Given the description of an element on the screen output the (x, y) to click on. 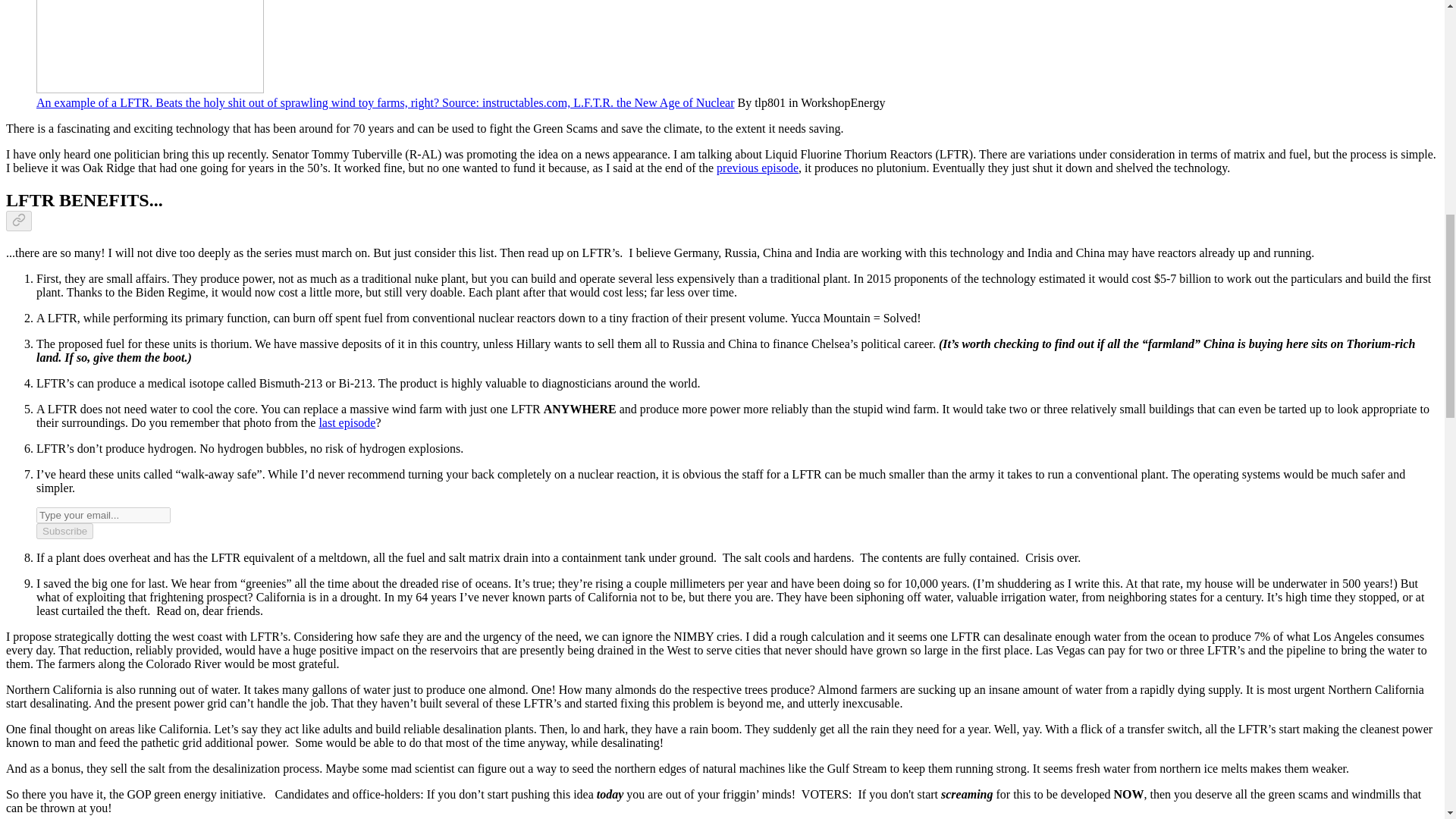
Subscribe (64, 530)
previous episode (756, 167)
last episode (346, 422)
